Given the description of an element on the screen output the (x, y) to click on. 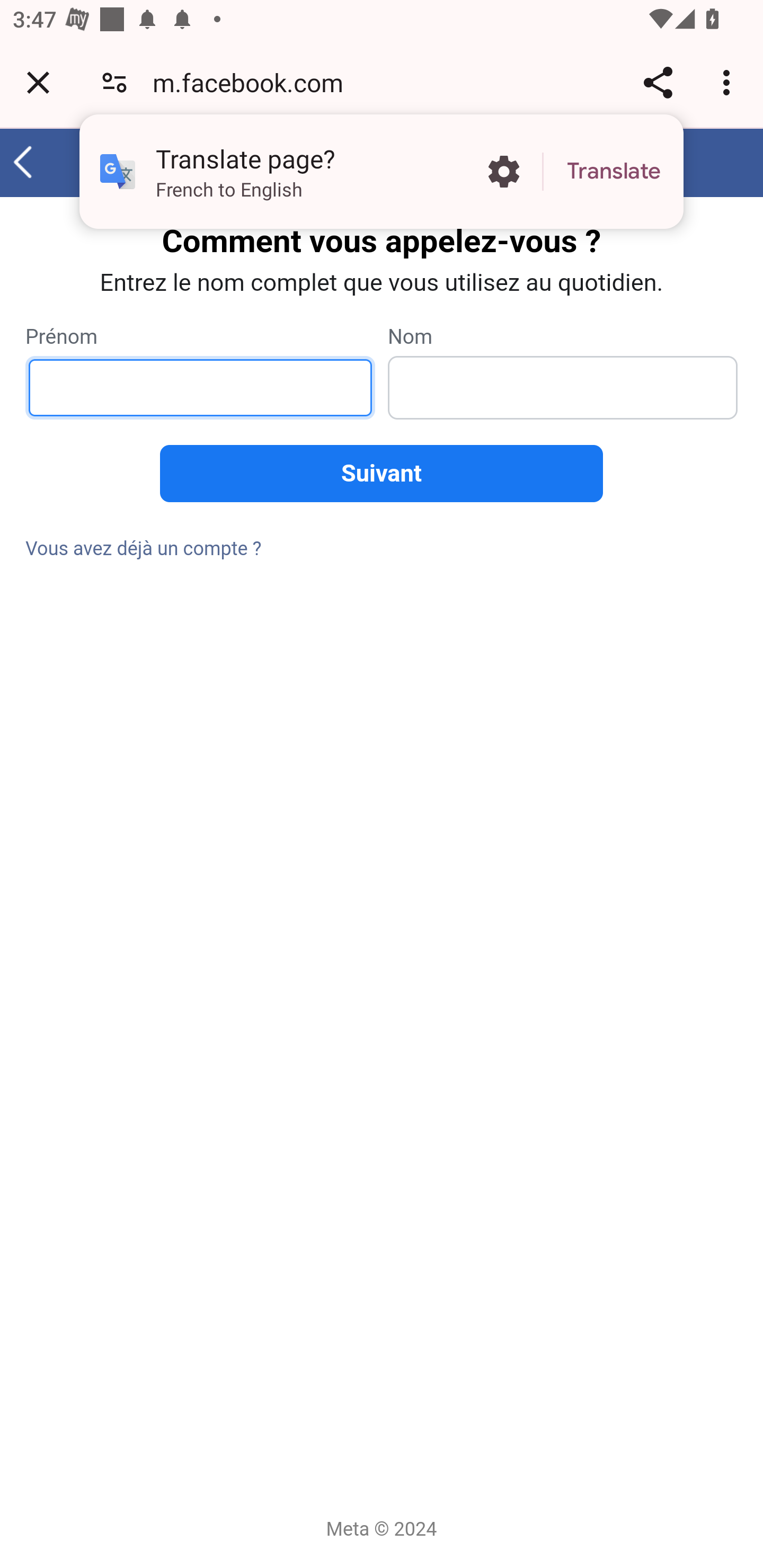
Close tab (38, 82)
Share (657, 82)
Customize and control Google Chrome (729, 82)
Connection is secure (114, 81)
m.facebook.com (254, 81)
Translate (613, 171)
More options in the Translate page? (503, 171)
Suivant (381, 473)
Vous avez déjà un compte ? (143, 549)
